Given the description of an element on the screen output the (x, y) to click on. 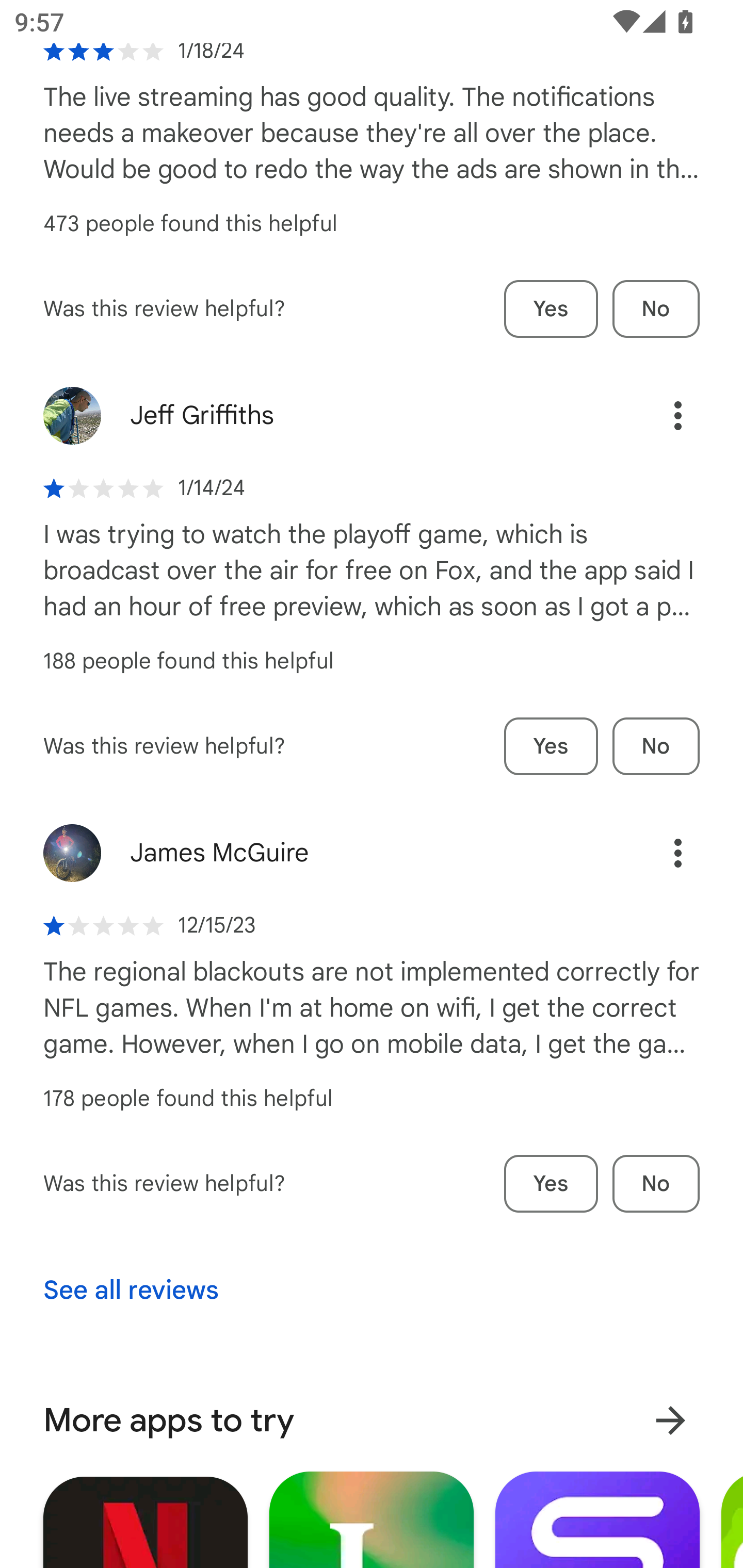
Yes (550, 308)
No (655, 308)
Options (655, 416)
Yes (550, 746)
No (655, 746)
Options (655, 852)
Yes (550, 1183)
No (655, 1183)
See all reviews (130, 1290)
More apps to try More results for More apps to try (371, 1420)
More results for More apps to try (670, 1420)
